Given the description of an element on the screen output the (x, y) to click on. 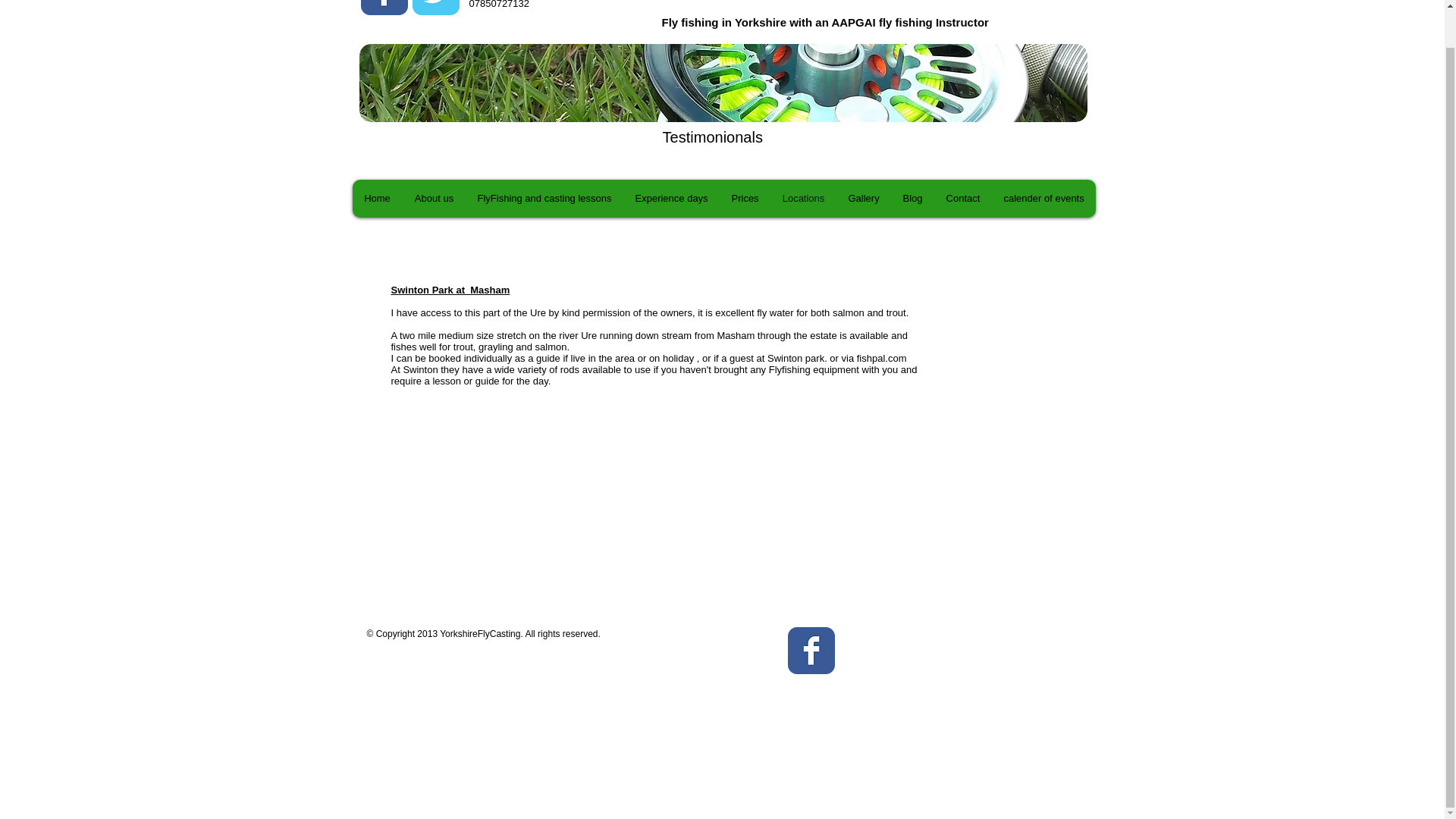
Facebook Like (937, 654)
FlyFishing and casting lessons (544, 198)
calender of events (1043, 198)
Contact (962, 198)
Gallery (862, 198)
Locations (802, 198)
Experience days (671, 198)
Blog (911, 198)
Facebook Like (459, 70)
Prices (744, 198)
About us (432, 198)
Home (376, 198)
